Given the description of an element on the screen output the (x, y) to click on. 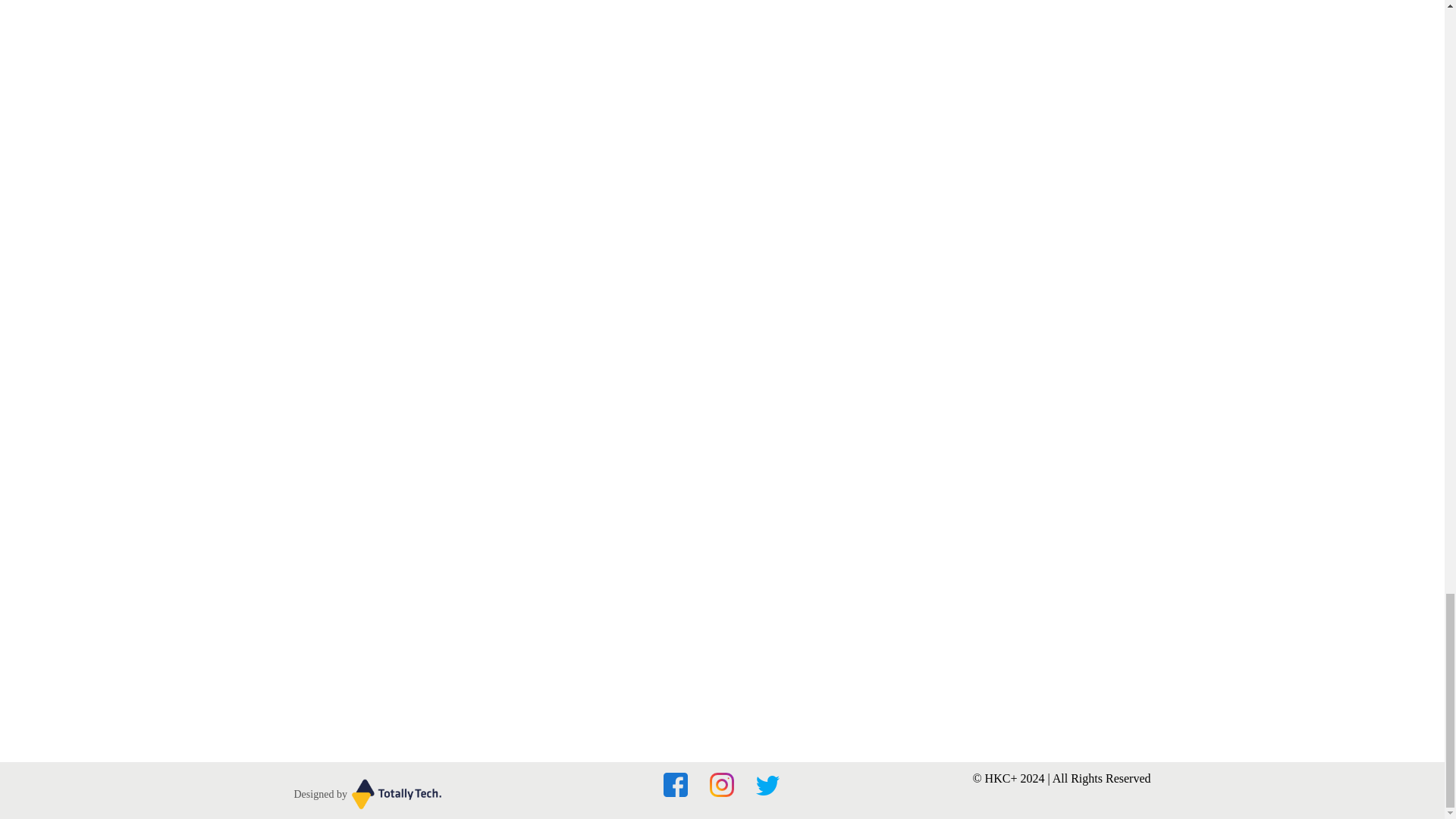
Twitter (767, 792)
Facebook (684, 792)
Instagram (731, 792)
